Given the description of an element on the screen output the (x, y) to click on. 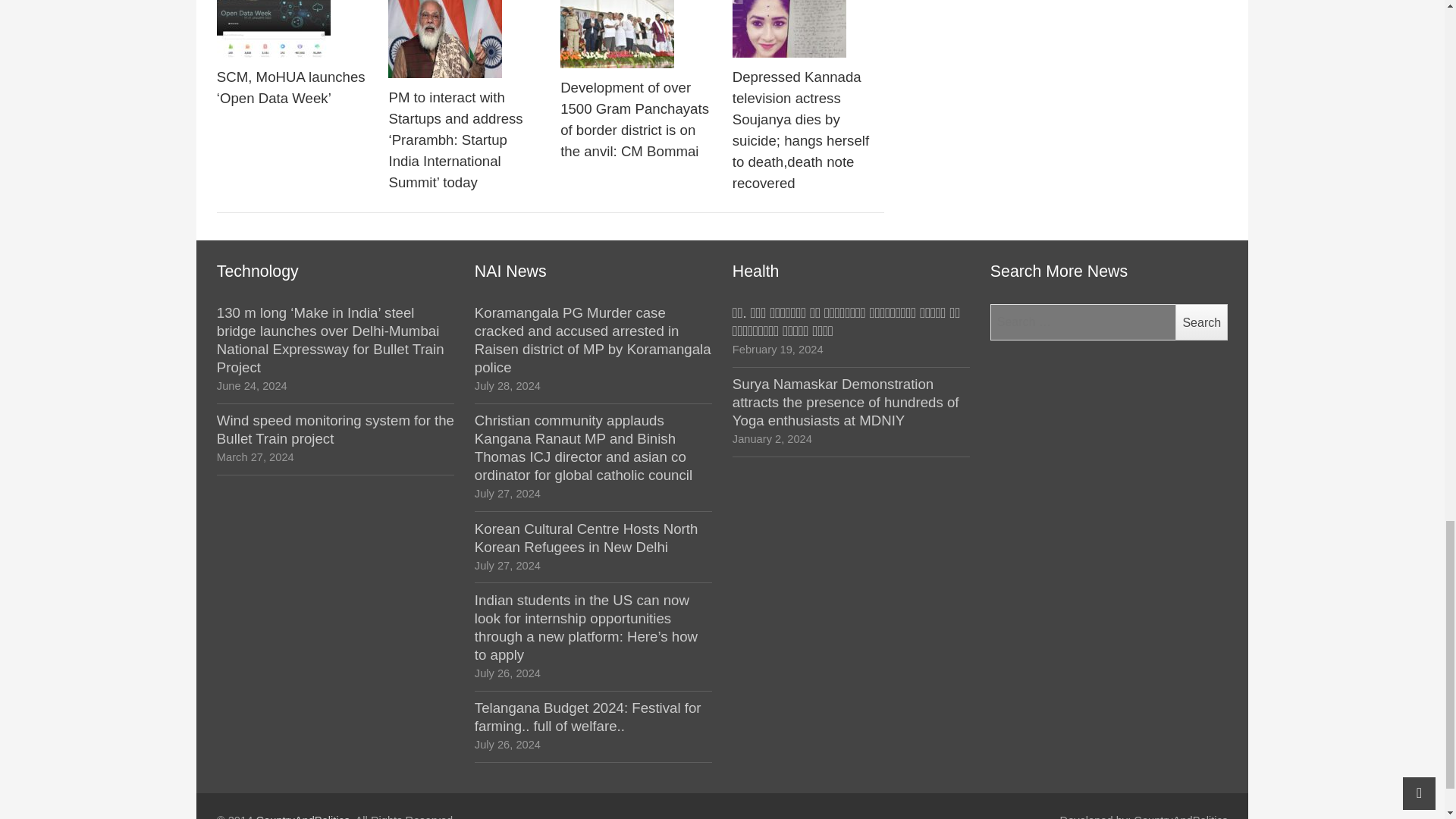
Search (1200, 321)
Search (1200, 321)
